Given the description of an element on the screen output the (x, y) to click on. 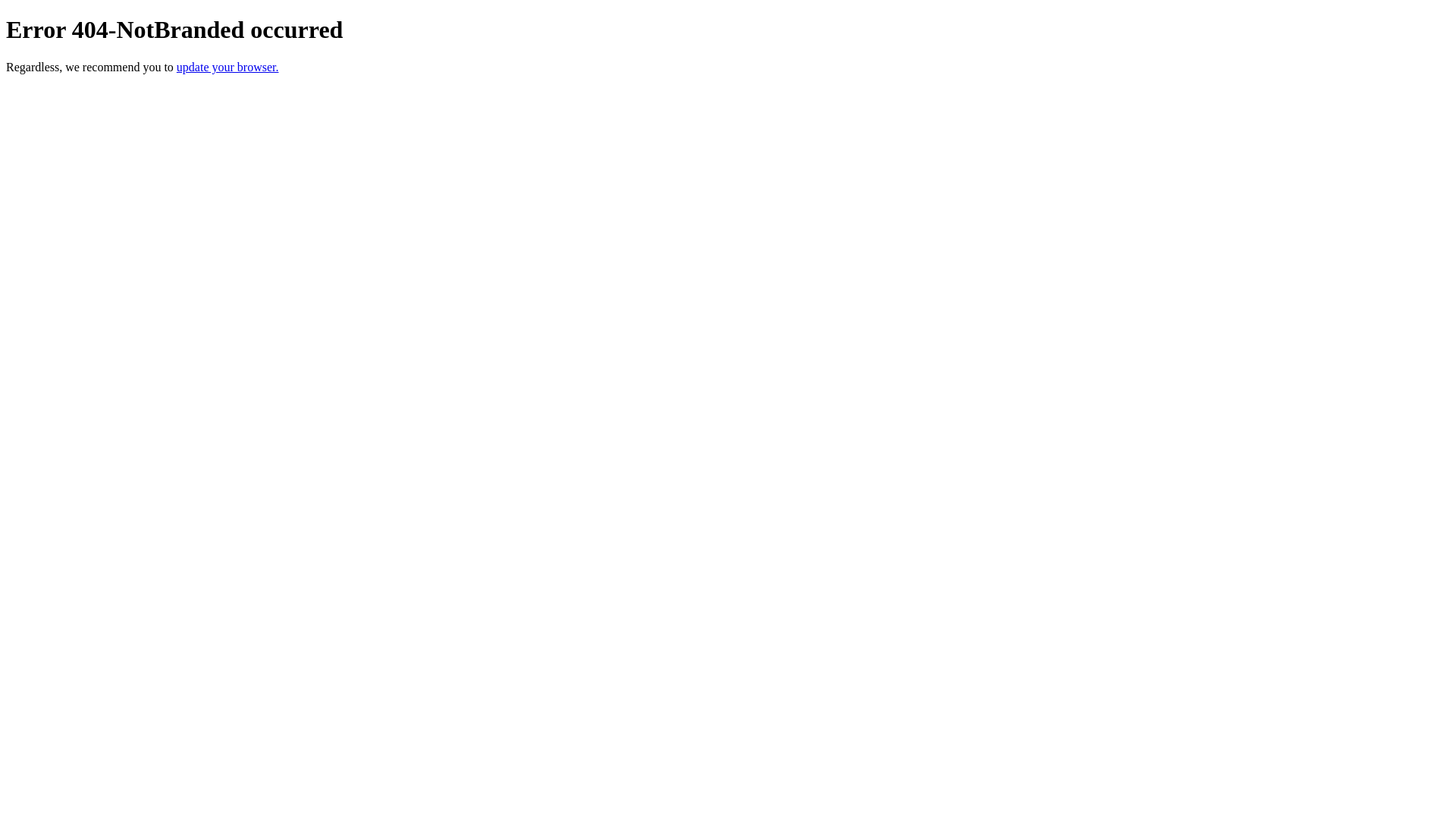
update your browser. Element type: text (227, 66)
